Given the description of an element on the screen output the (x, y) to click on. 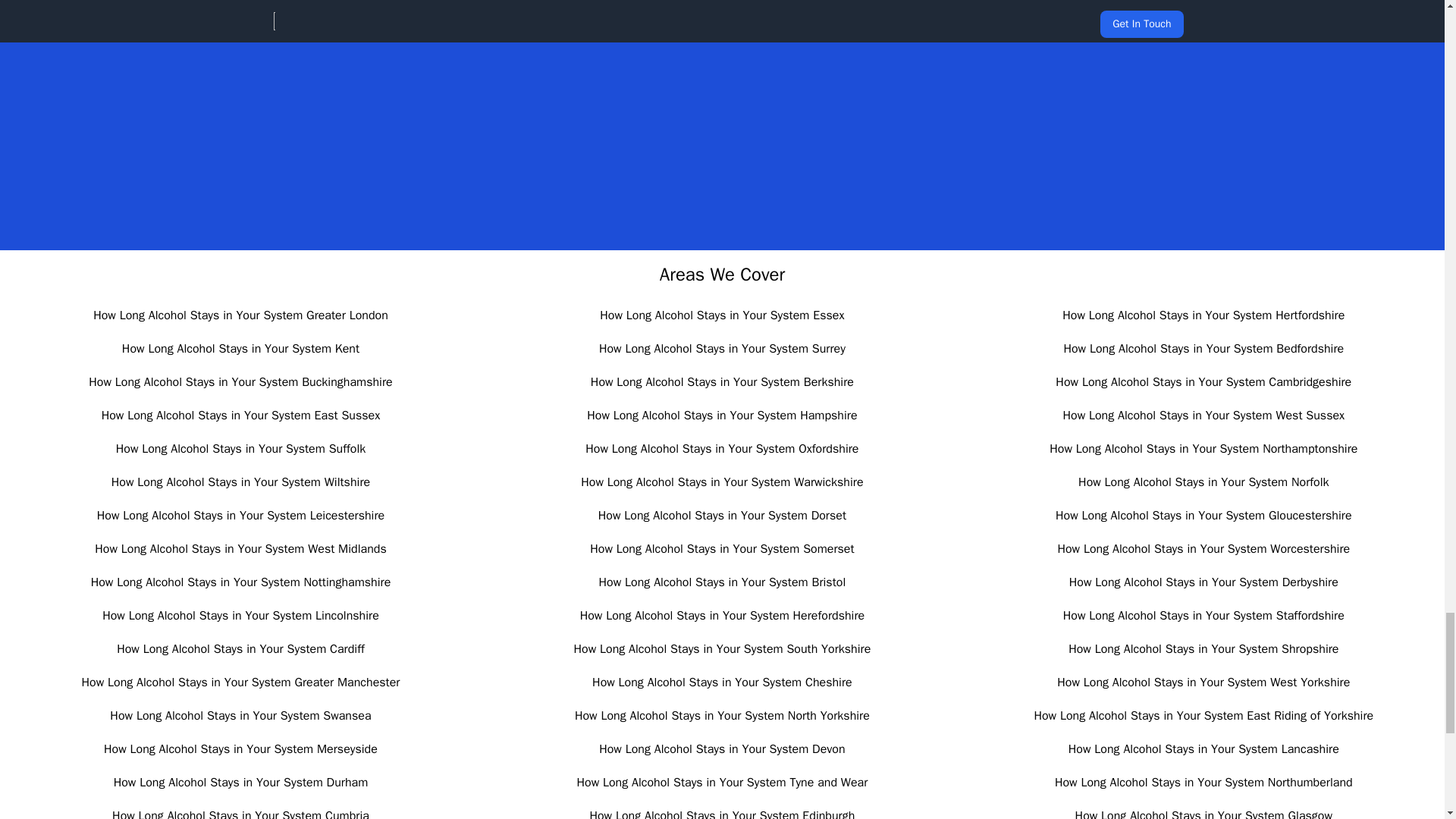
How Long Alcohol Stays in Your System Hampshire (721, 415)
How Long Alcohol Stays in Your System Dorset (721, 515)
How Long Alcohol Stays in Your System Leicestershire (240, 515)
How Long Alcohol Stays in Your System Essex (721, 314)
How Long Alcohol Stays in Your System Cambridgeshire (1203, 381)
How Long Alcohol Stays in Your System Norfolk (1202, 482)
How Long Alcohol Stays in Your System Surrey (721, 348)
How Long Alcohol Stays in Your System West Sussex (1202, 415)
How Long Alcohol Stays in Your System West Midlands (239, 548)
How Long Alcohol Stays in Your System Warwickshire (721, 482)
How Long Alcohol Stays in Your System Hertfordshire (1202, 314)
How Long Alcohol Stays in Your System Suffolk (241, 448)
How Long Alcohol Stays in Your System Oxfordshire (722, 448)
How Long Alcohol Stays in Your System Bedfordshire (1202, 348)
How Long Alcohol Stays in Your System Gloucestershire (1203, 515)
